Given the description of an element on the screen output the (x, y) to click on. 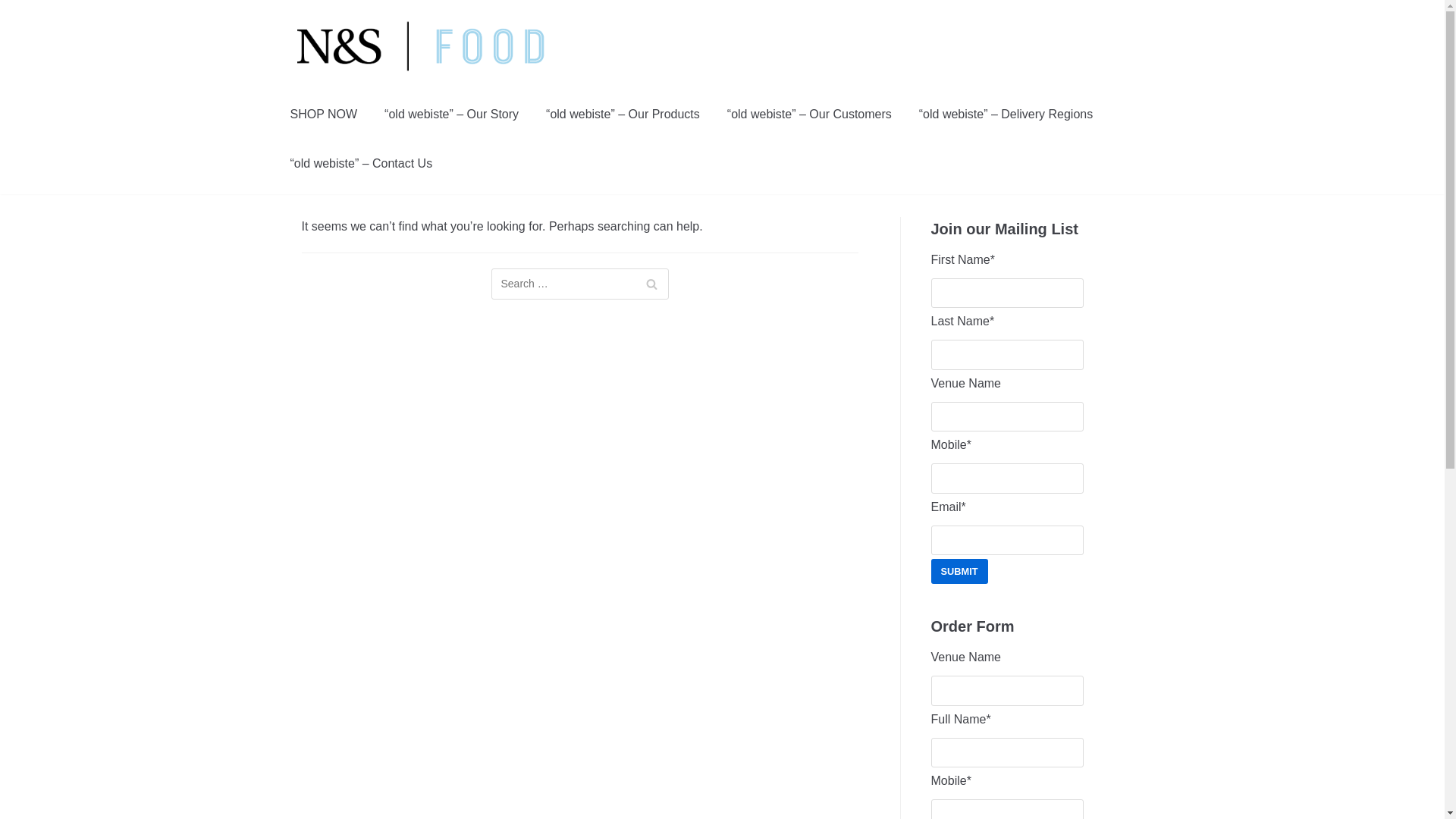
Skip to content Element type: text (15, 7)
SHOP NOW Element type: text (323, 114)
Search Element type: text (650, 283)
Nicholson & Saville Element type: hover (422, 45)
Submit Element type: text (959, 570)
